Given the description of an element on the screen output the (x, y) to click on. 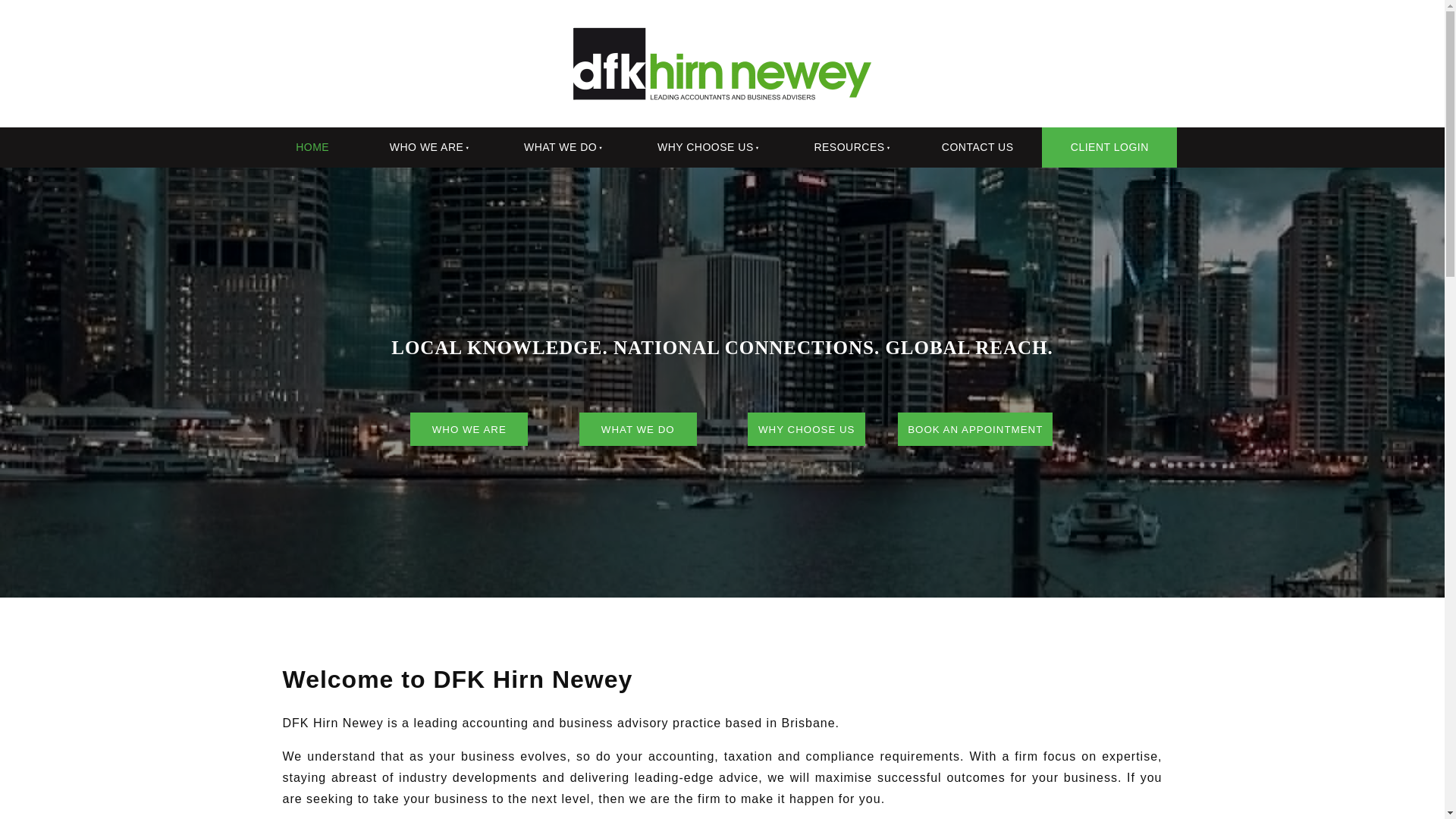
RESOURCES (846, 147)
WHY CHOOSE US (703, 147)
WHAT WE DO (638, 428)
CLIENT LOGIN (1109, 147)
WHO WE ARE (468, 428)
CONTACT US (977, 147)
WHAT WE DO (559, 147)
WHO WE ARE (425, 147)
HOME (311, 147)
